Given the description of an element on the screen output the (x, y) to click on. 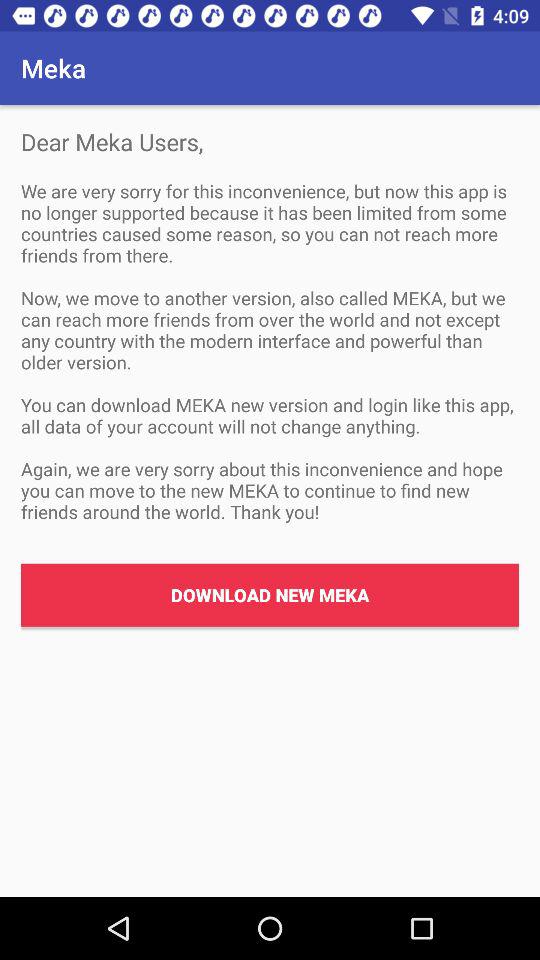
choose the download new meka icon (270, 594)
